Given the description of an element on the screen output the (x, y) to click on. 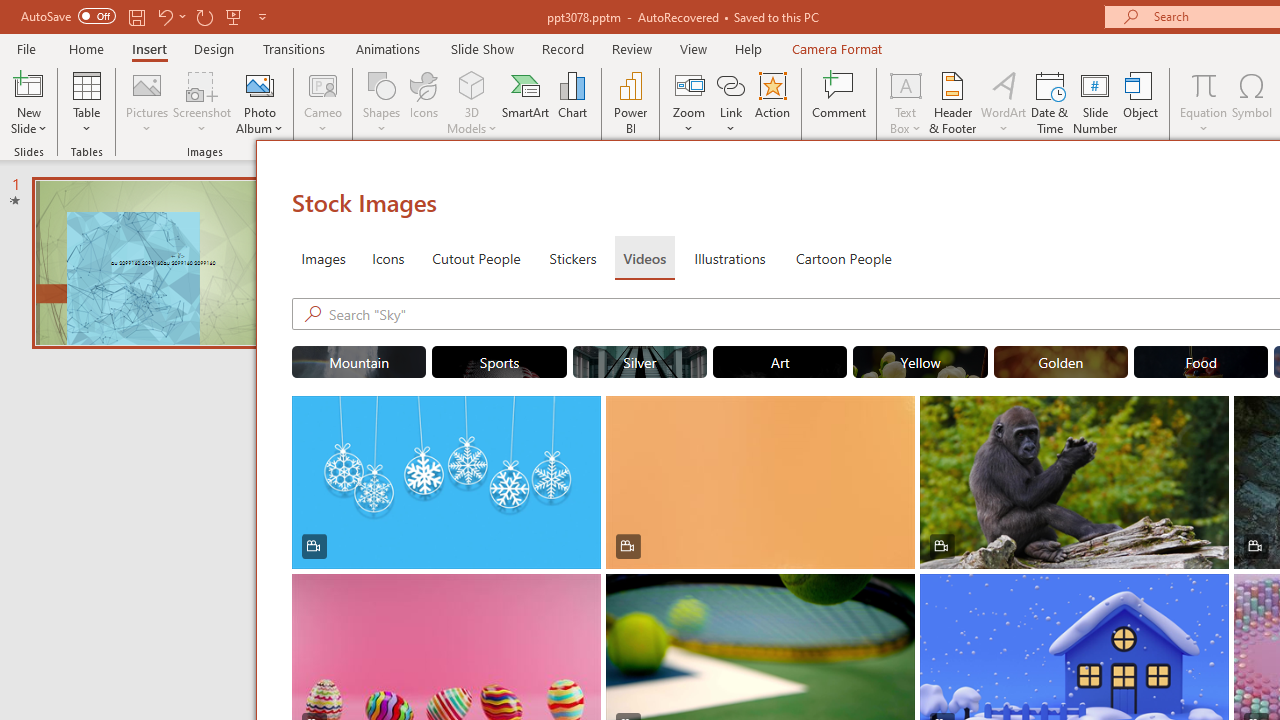
Object... (1141, 102)
Icons (424, 102)
3D Models (472, 102)
Action (772, 102)
"Mountain" Stock Videos. (358, 362)
Slide Number (1095, 102)
Link (731, 102)
